Given the description of an element on the screen output the (x, y) to click on. 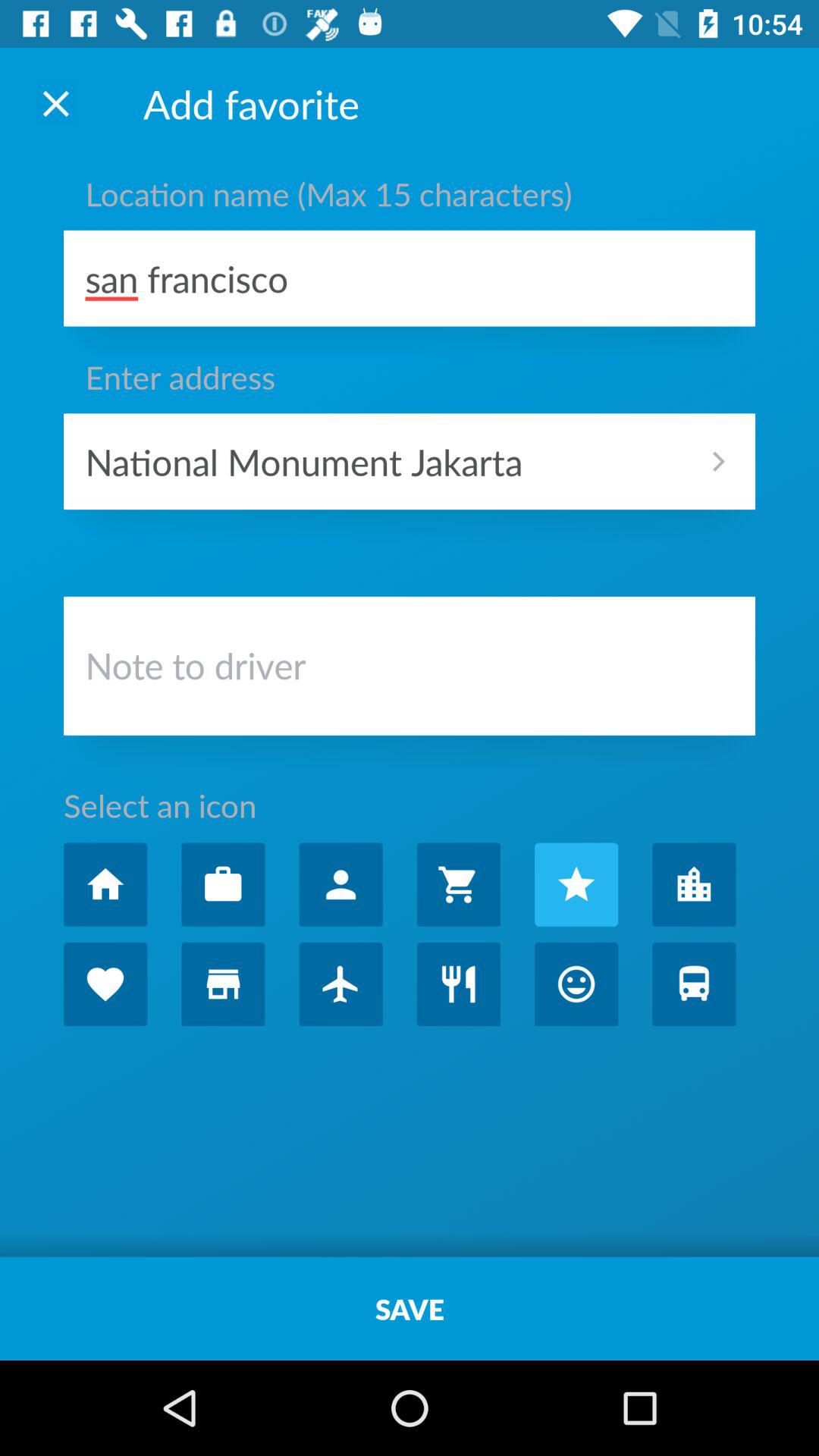
select item (223, 884)
